Given the description of an element on the screen output the (x, y) to click on. 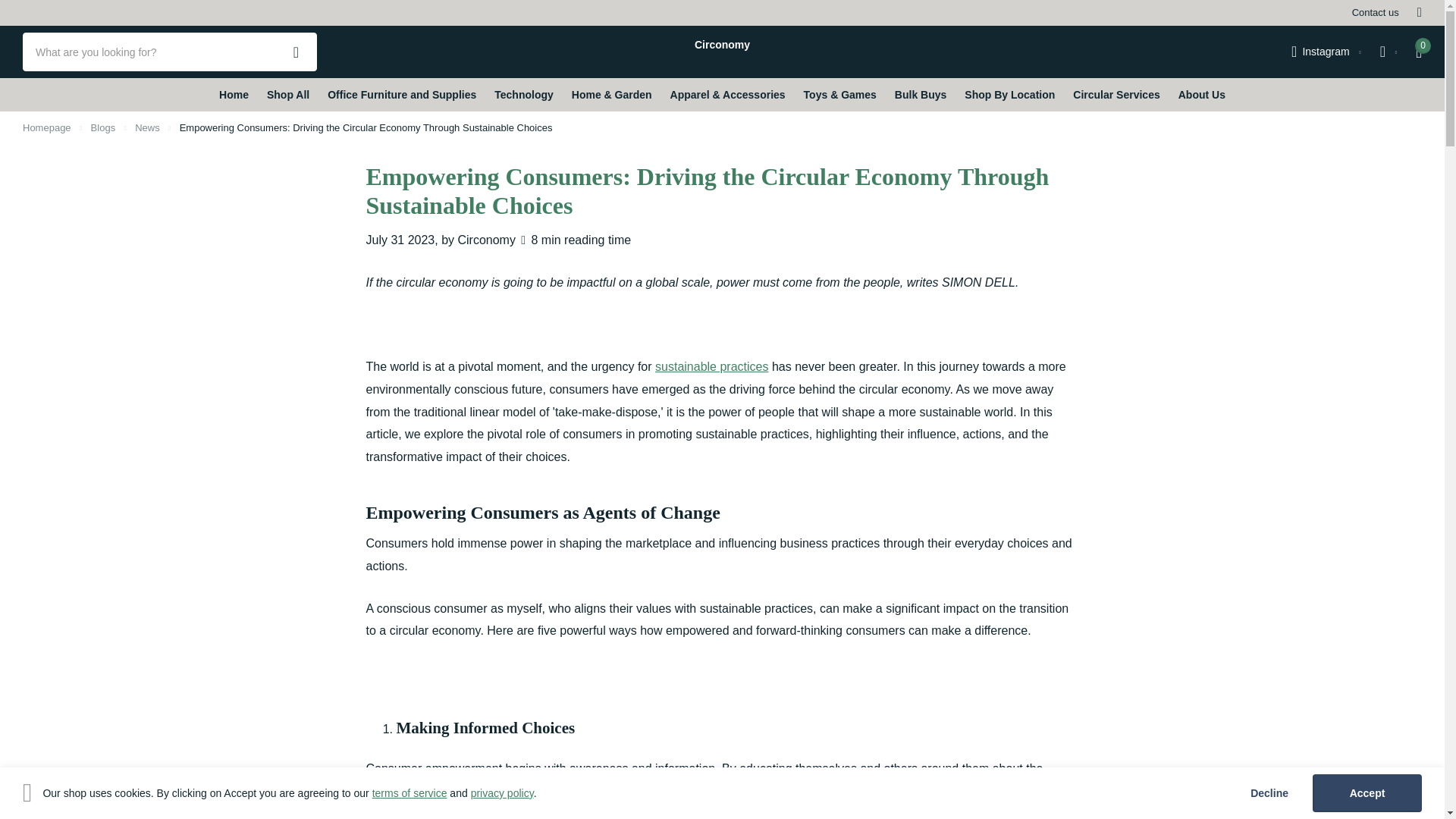
Shop All (287, 94)
Zoeken (296, 51)
Instagram (1326, 51)
Contact us (1375, 12)
Home (47, 127)
